Given the description of an element on the screen output the (x, y) to click on. 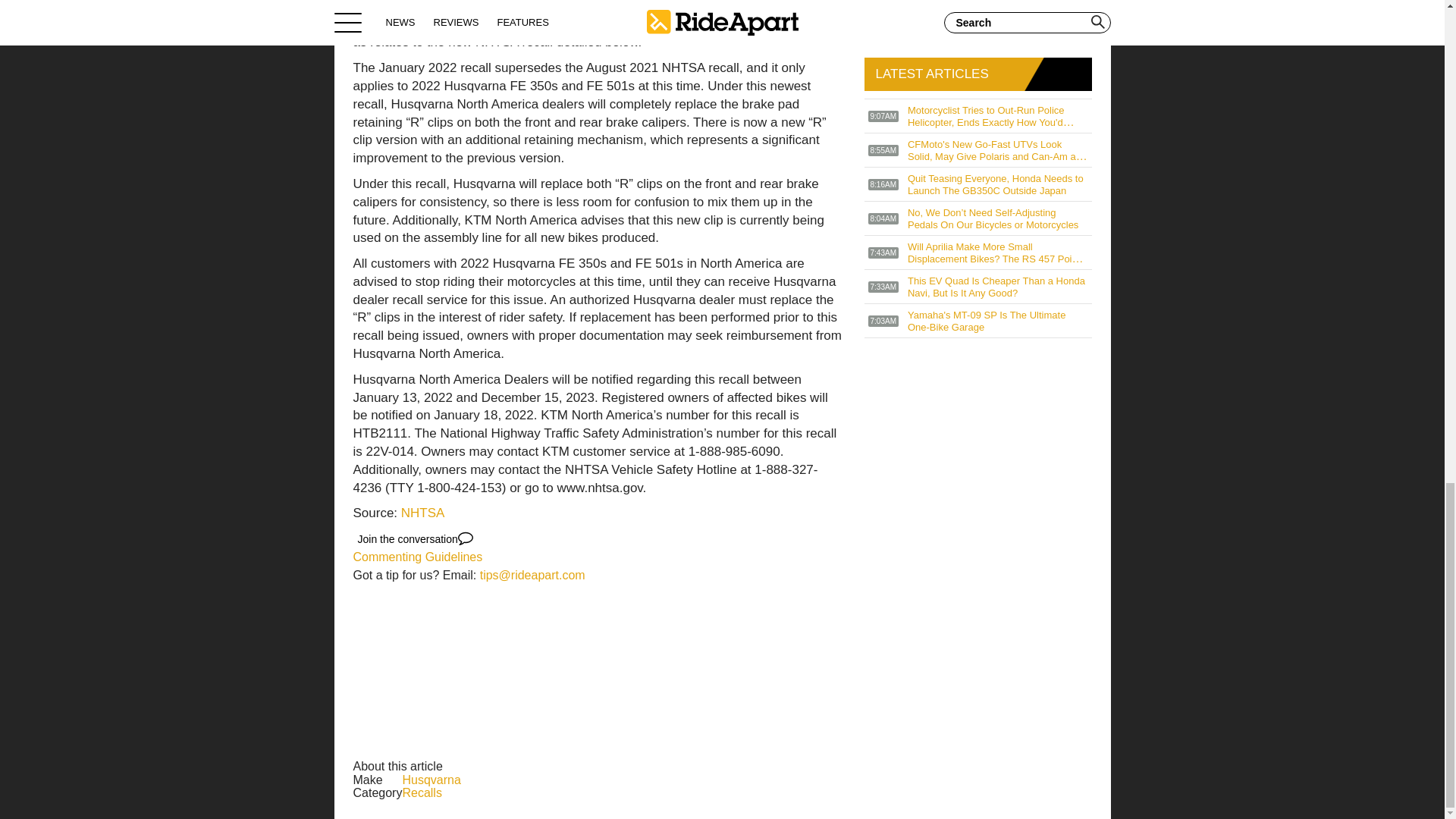
Commenting Guidelines (418, 556)
NHTSA (423, 513)
Join the conversation (415, 538)
